Given the description of an element on the screen output the (x, y) to click on. 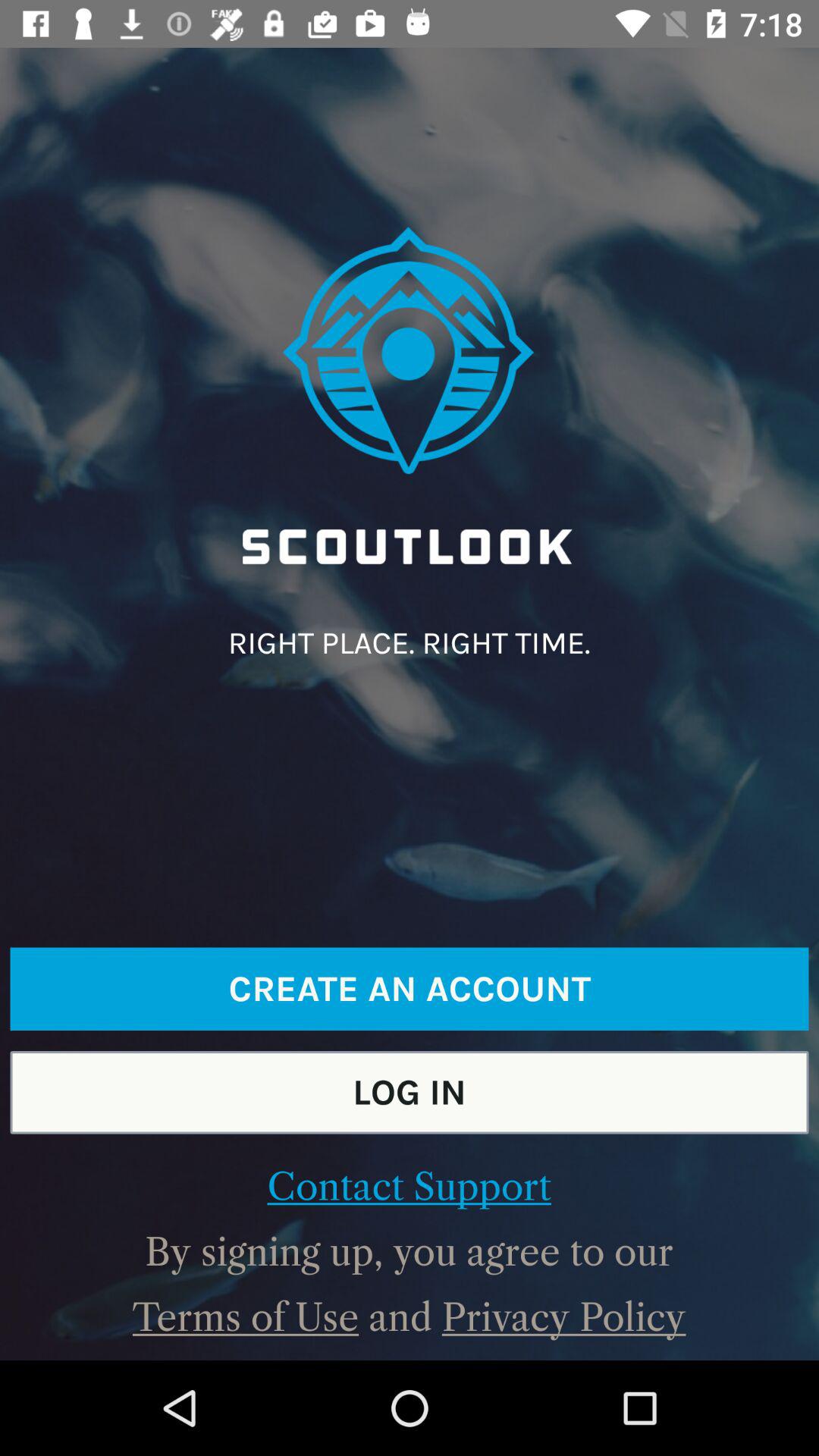
turn off privacy policy item (563, 1317)
